Given the description of an element on the screen output the (x, y) to click on. 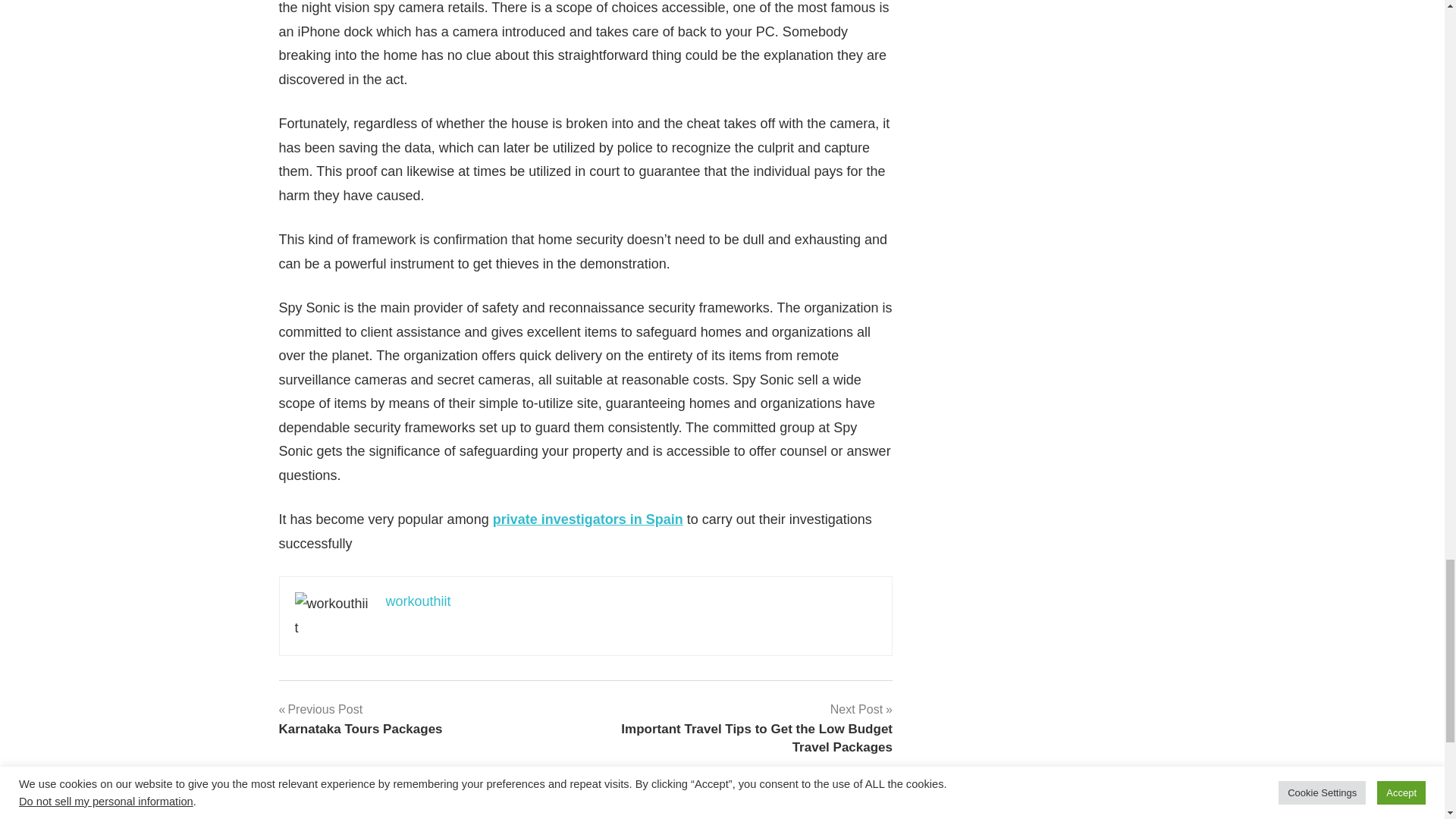
private investigators in Spain (587, 519)
workouthiit (360, 718)
